Given the description of an element on the screen output the (x, y) to click on. 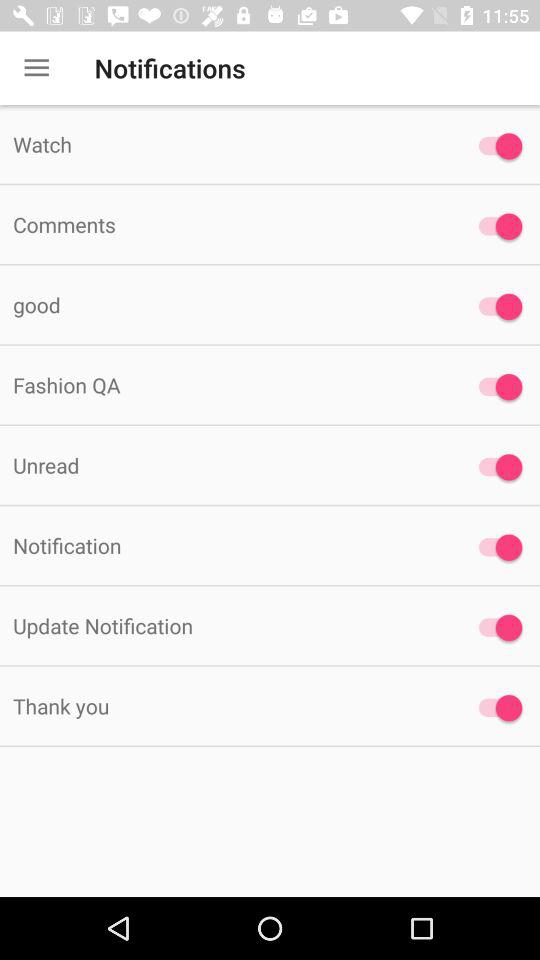
jump to fashion qa item (225, 384)
